Given the description of an element on the screen output the (x, y) to click on. 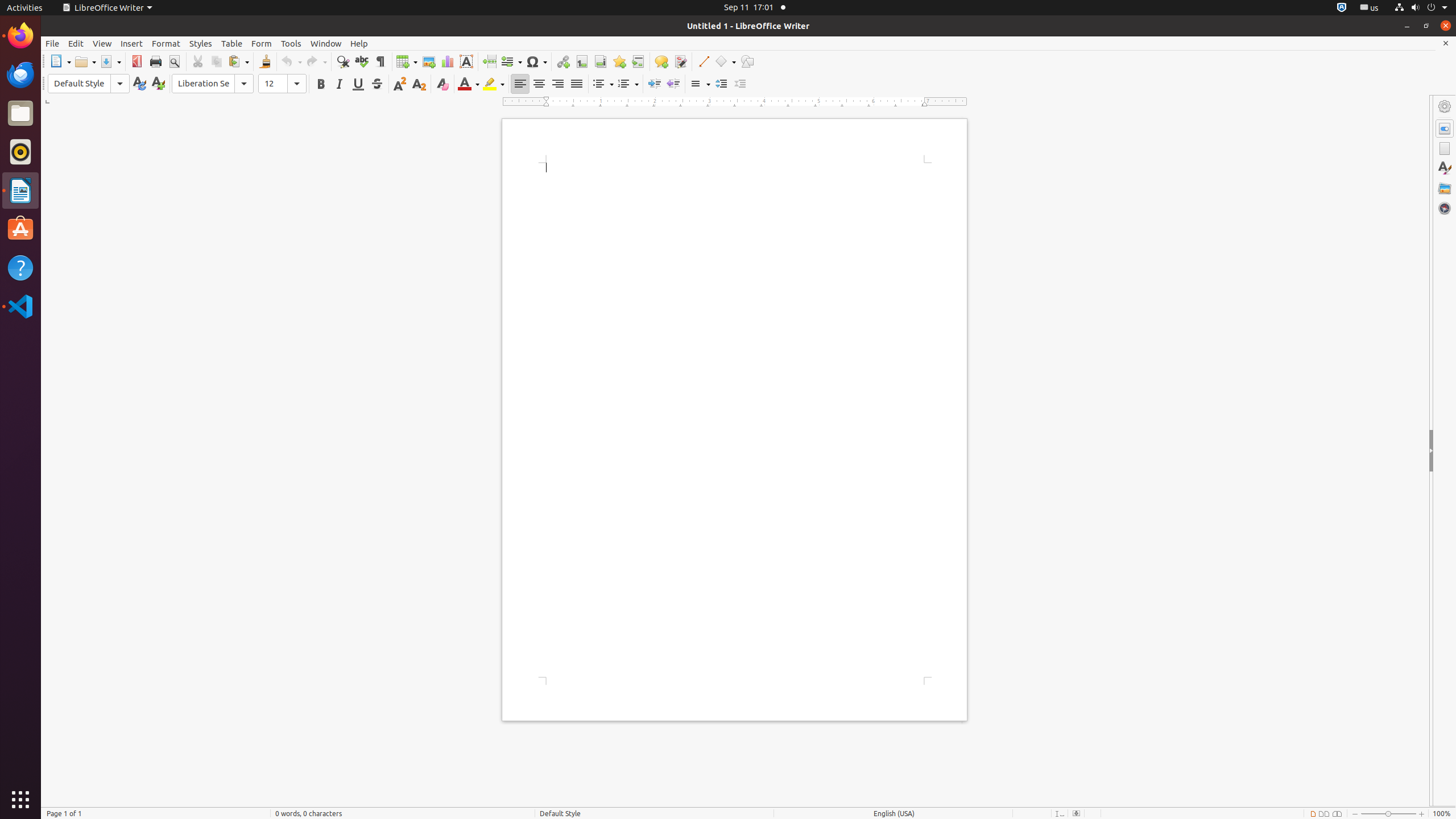
Find & Replace Element type: toggle-button (342, 61)
Table Element type: push-button (406, 61)
Page Break Element type: push-button (489, 61)
Font Name Element type: panel (212, 83)
